Given the description of an element on the screen output the (x, y) to click on. 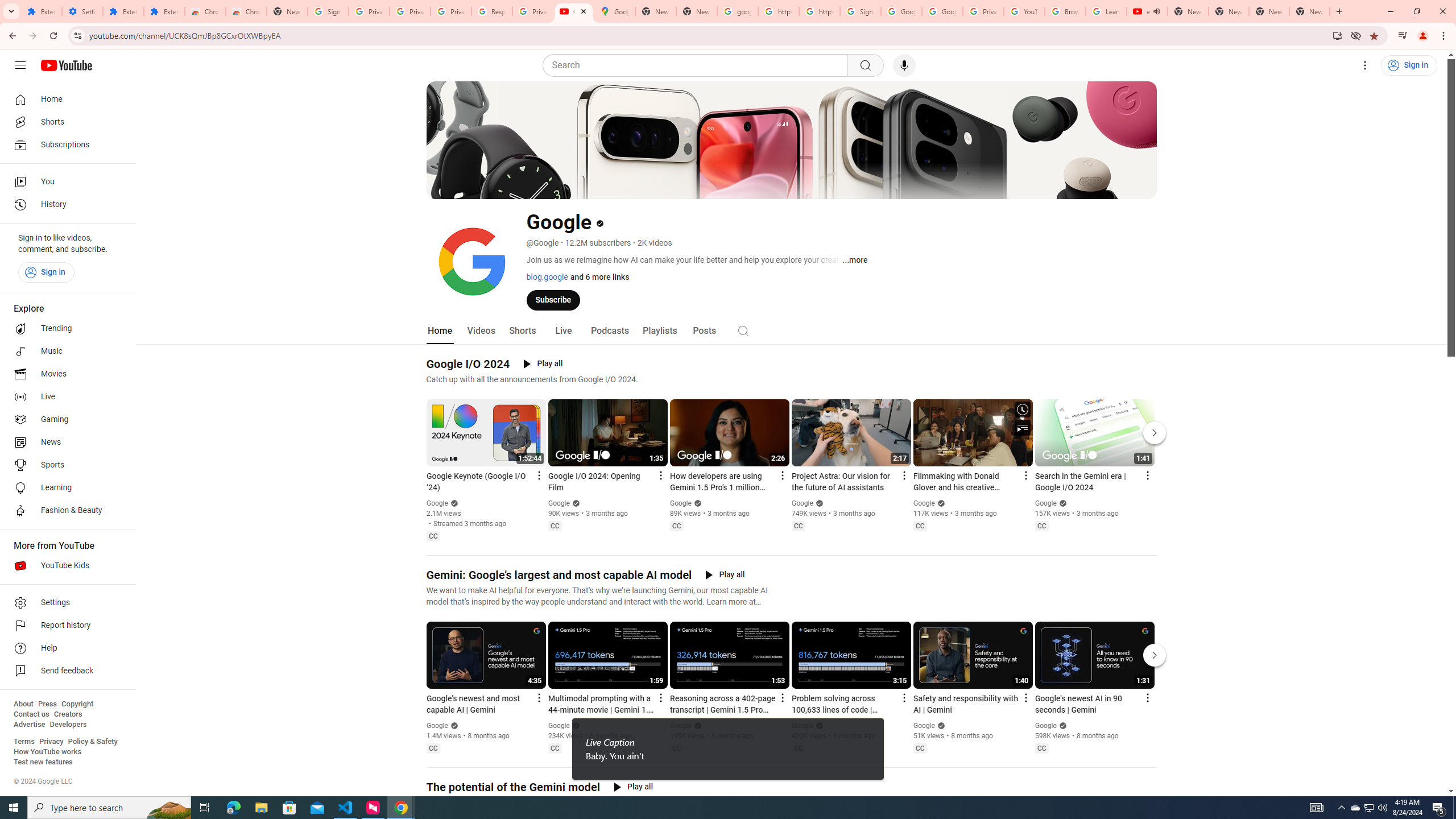
Policy & Safety (91, 741)
Settings (81, 11)
About (23, 703)
New Tab (287, 11)
The potential of the Gemini model (512, 786)
